Given the description of an element on the screen output the (x, y) to click on. 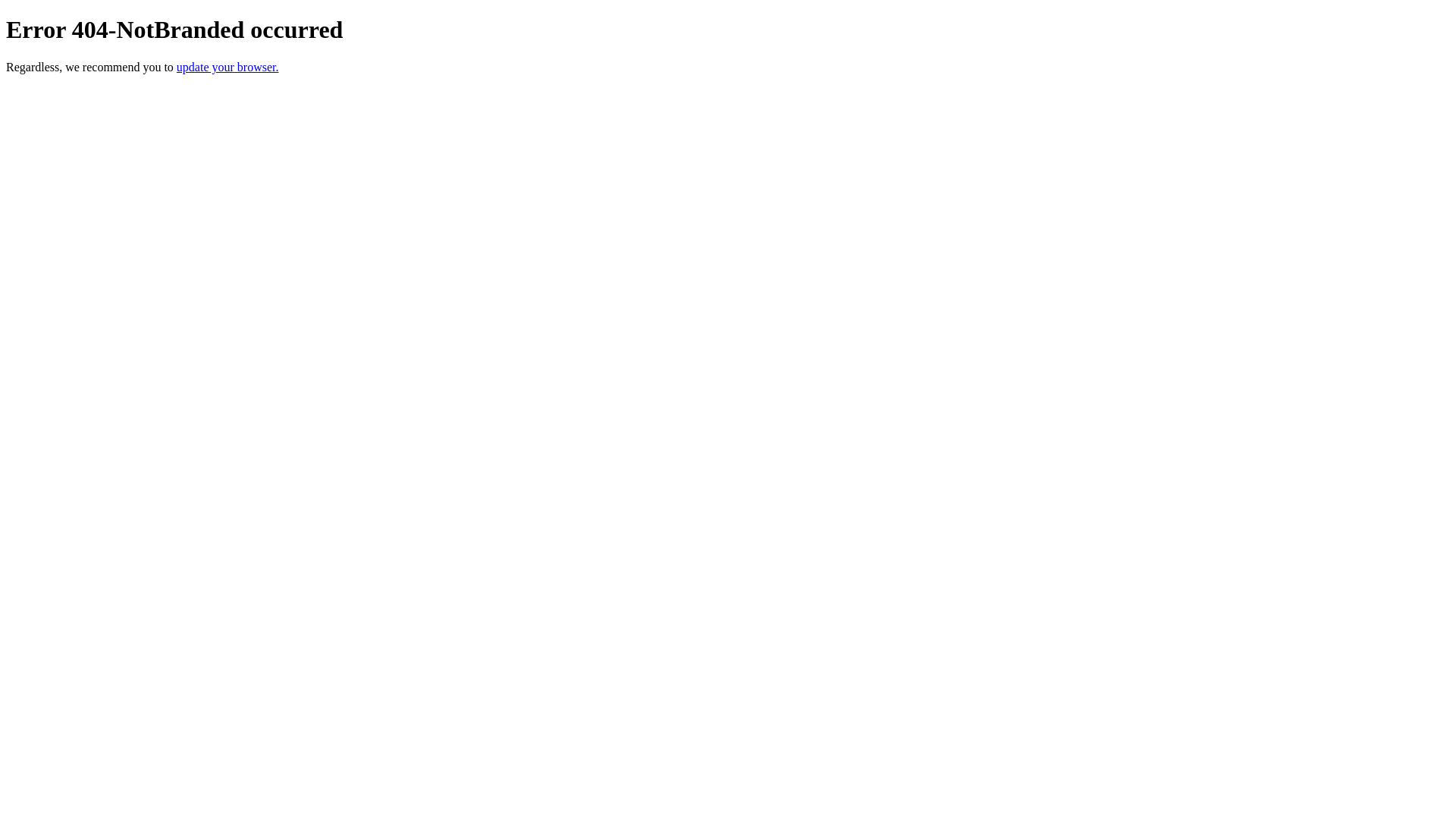
update your browser. Element type: text (227, 66)
